Given the description of an element on the screen output the (x, y) to click on. 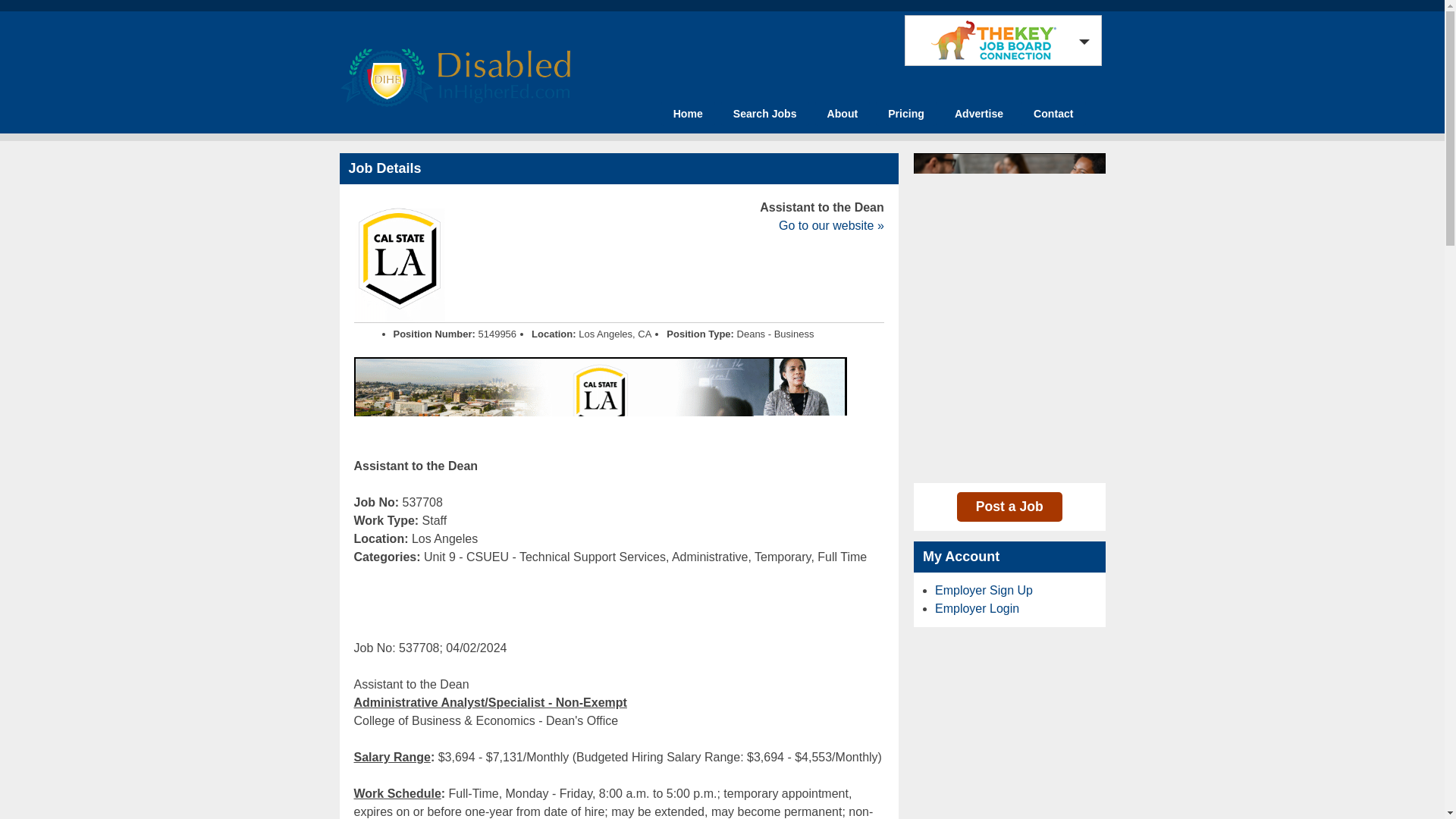
Toggle JobElephant Network menu (998, 40)
